Given the description of an element on the screen output the (x, y) to click on. 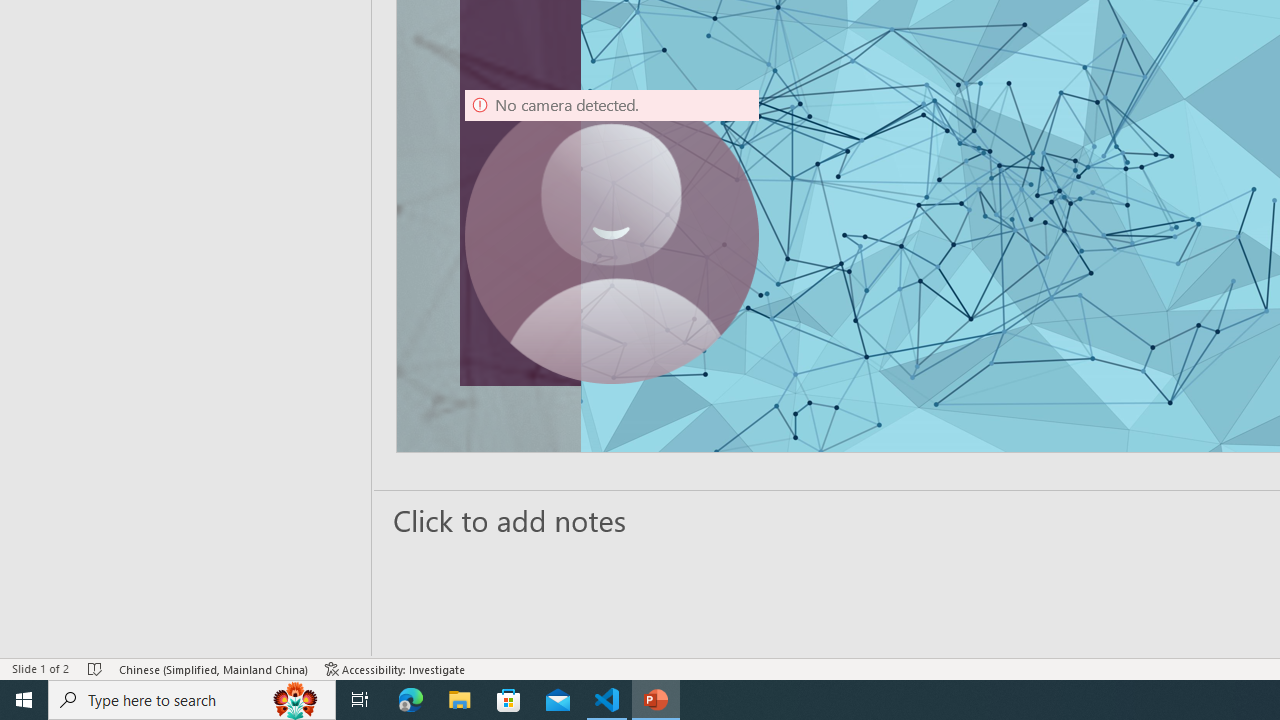
Camera 9, No camera detected. (612, 236)
